Given the description of an element on the screen output the (x, y) to click on. 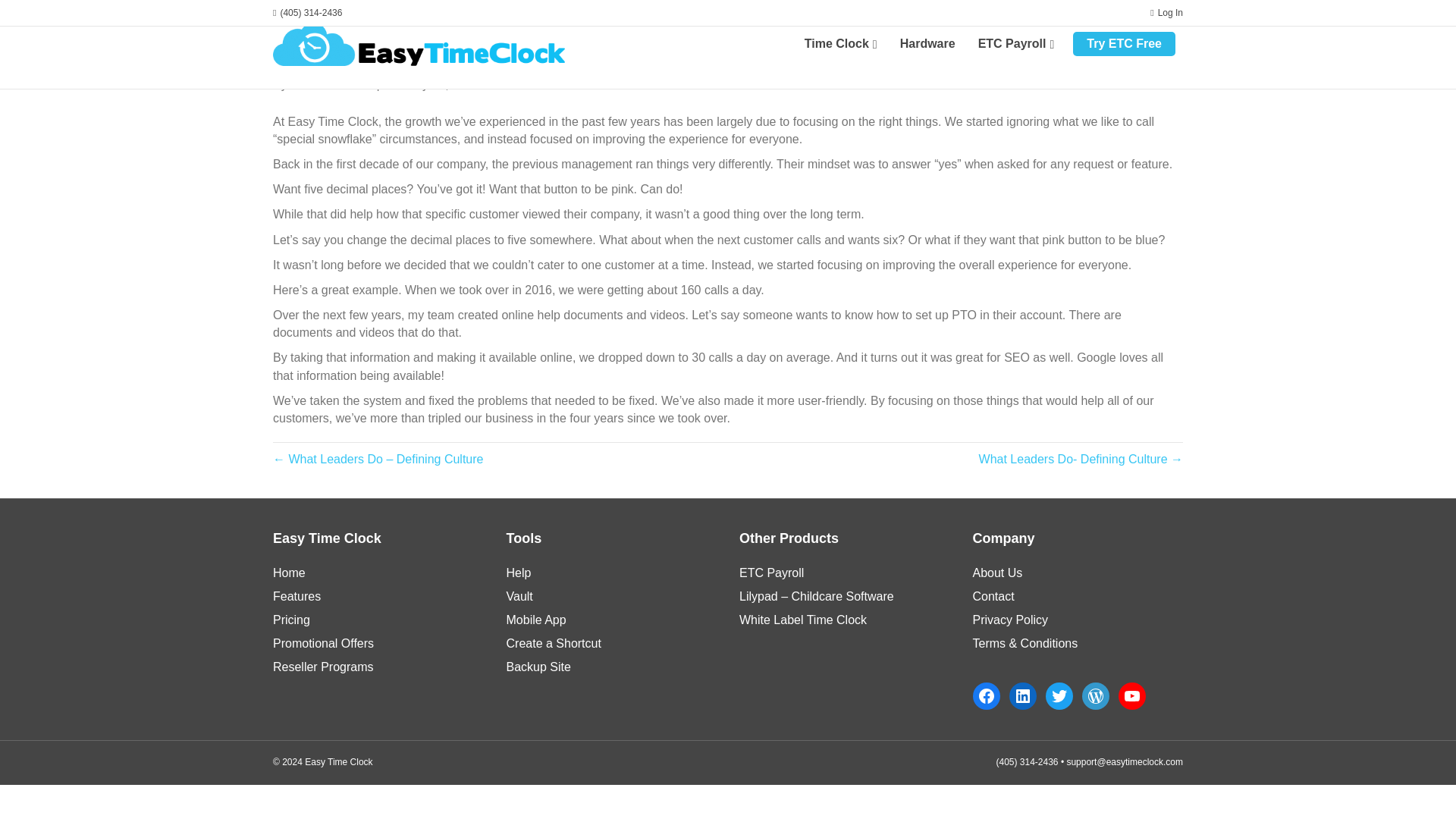
ETC Payroll (1015, 44)
Features (296, 595)
LinkedIn (1022, 696)
YouTube (1131, 696)
ETC Payroll (771, 572)
Facebook (985, 696)
Create a Shortcut (553, 643)
Contact (992, 595)
WordPress (1094, 696)
Help (518, 572)
Hardware (927, 43)
Privacy Policy (1010, 619)
Reseller Programs (322, 666)
Time Clock (840, 44)
White Label Time Clock (802, 619)
